Given the description of an element on the screen output the (x, y) to click on. 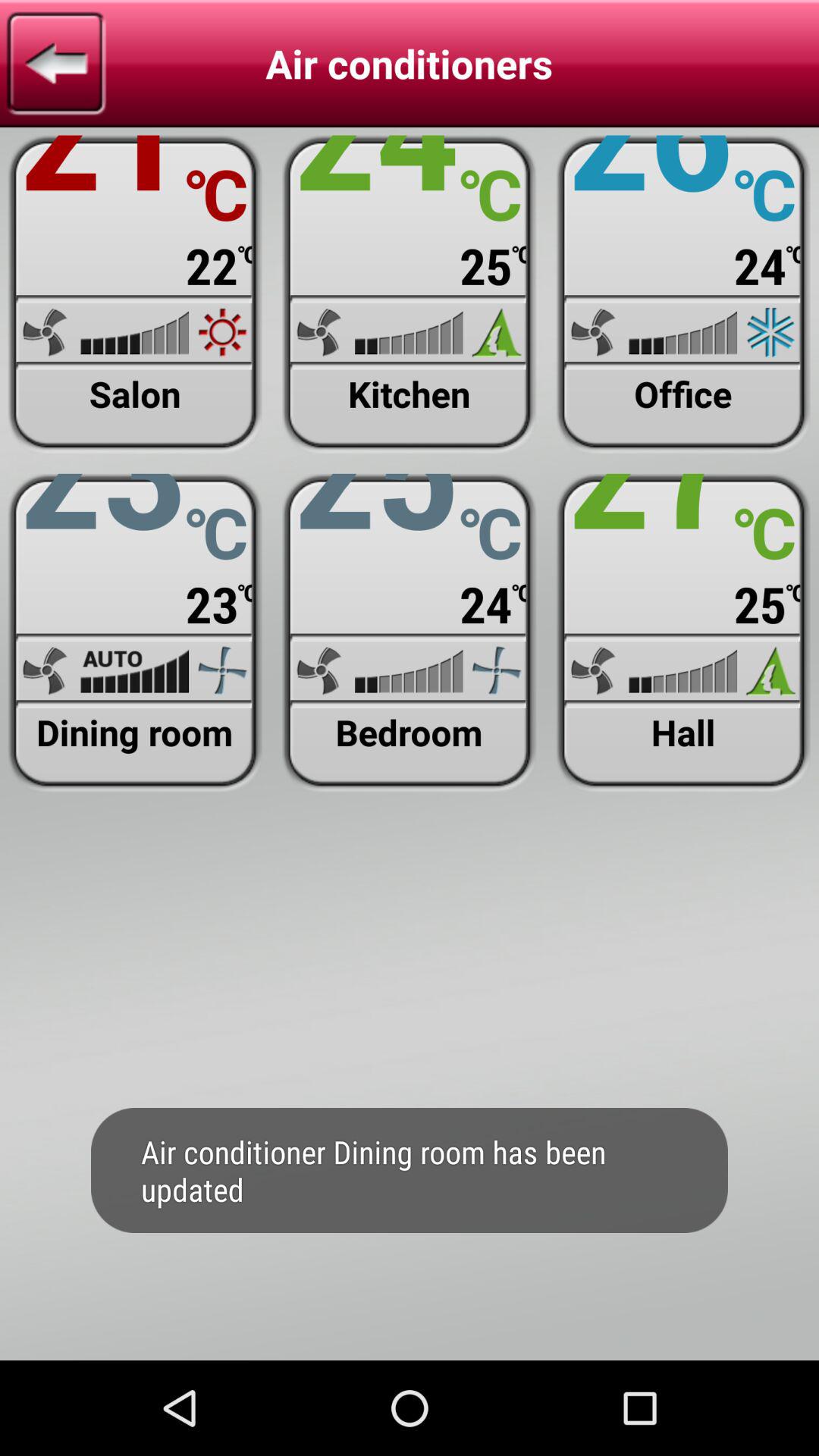
go to previous (55, 63)
